Given the description of an element on the screen output the (x, y) to click on. 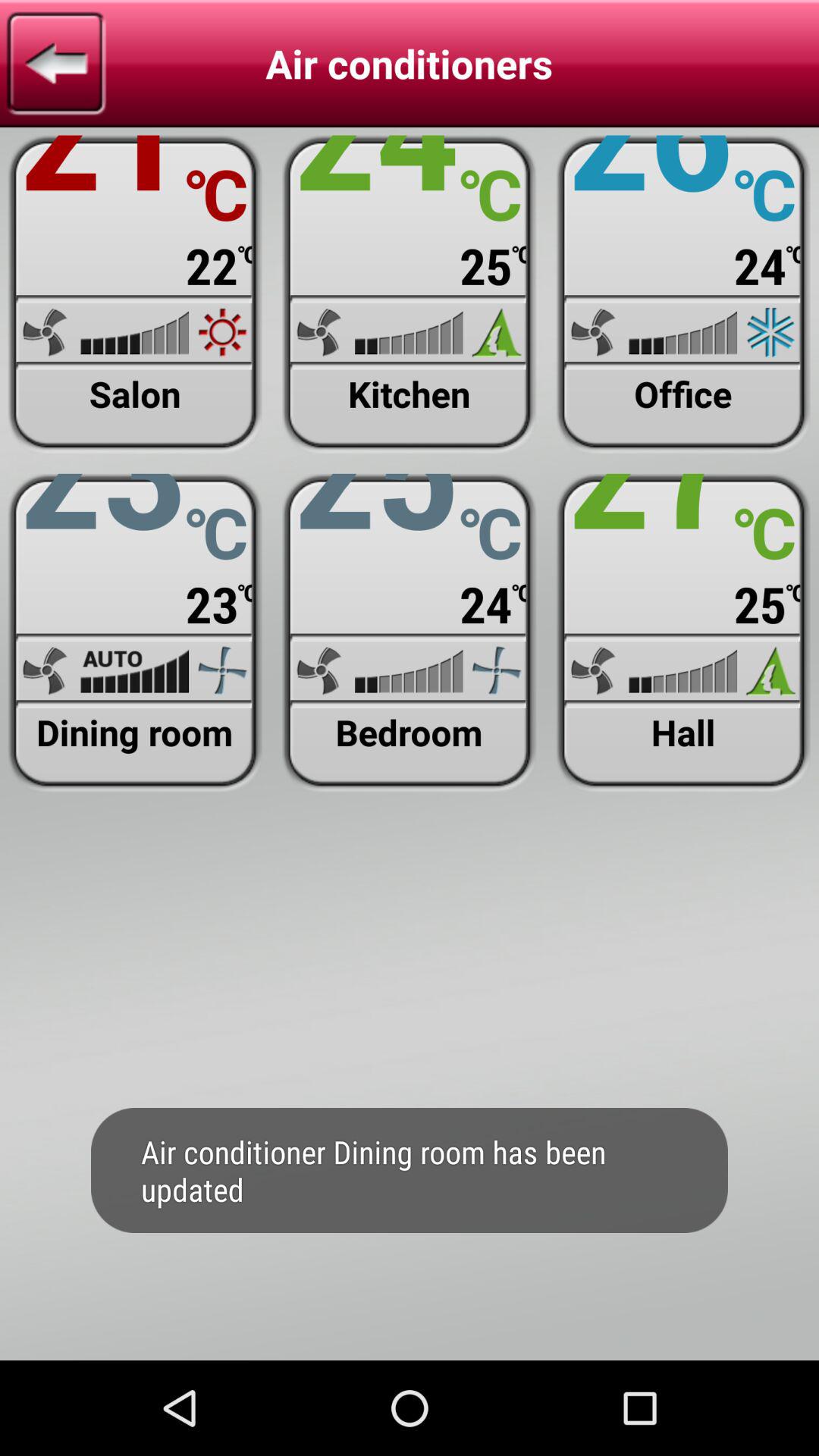
go to previous (55, 63)
